Given the description of an element on the screen output the (x, y) to click on. 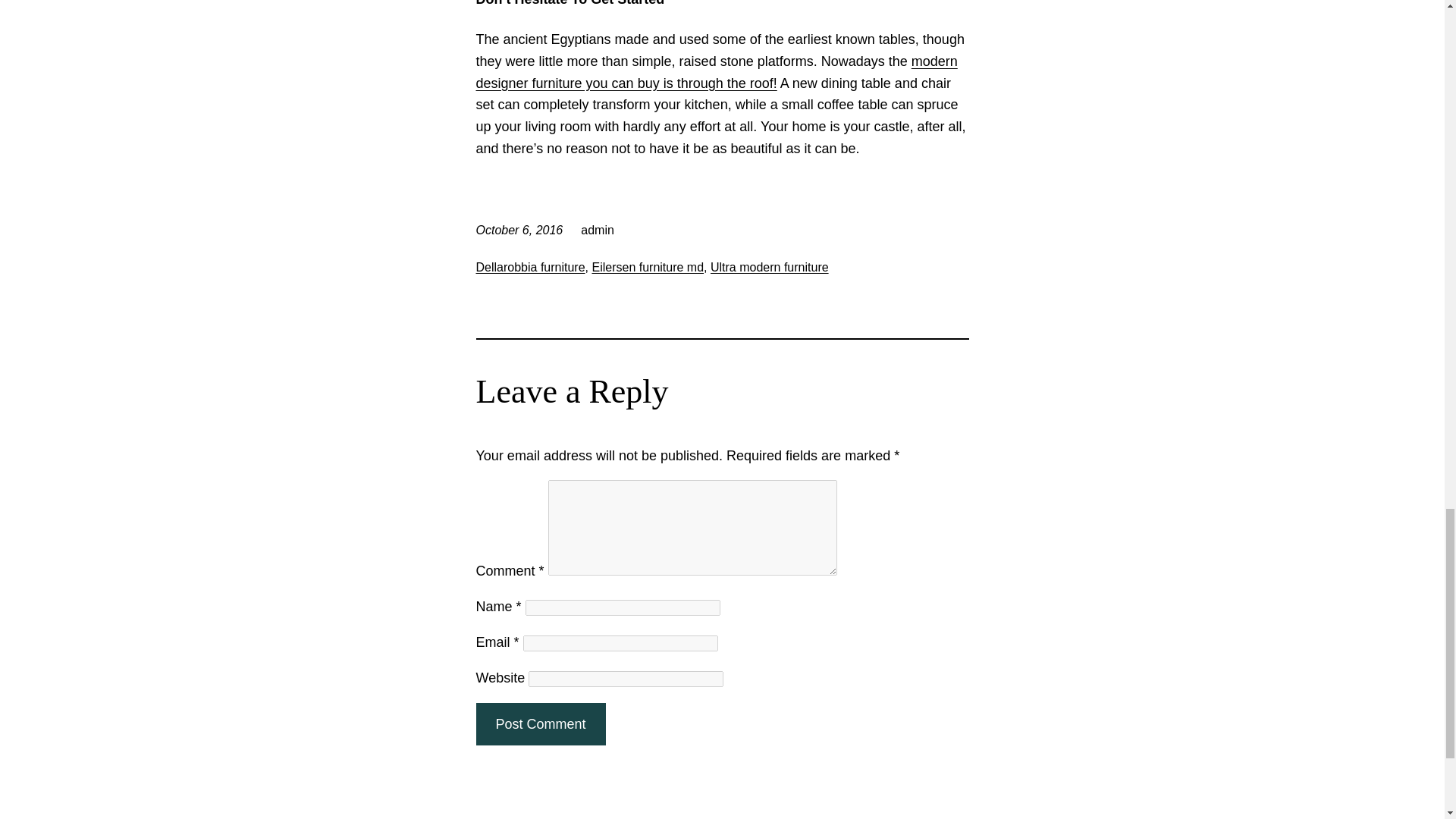
Dellarobbia furniture (530, 267)
modern designer furniture you can buy is through the roof! (717, 72)
Post Comment (540, 723)
Post Comment (540, 723)
Eilersen furniture md (647, 267)
Ultra modern furniture (769, 267)
Learn more about True contemporary furniture (717, 72)
